Given the description of an element on the screen output the (x, y) to click on. 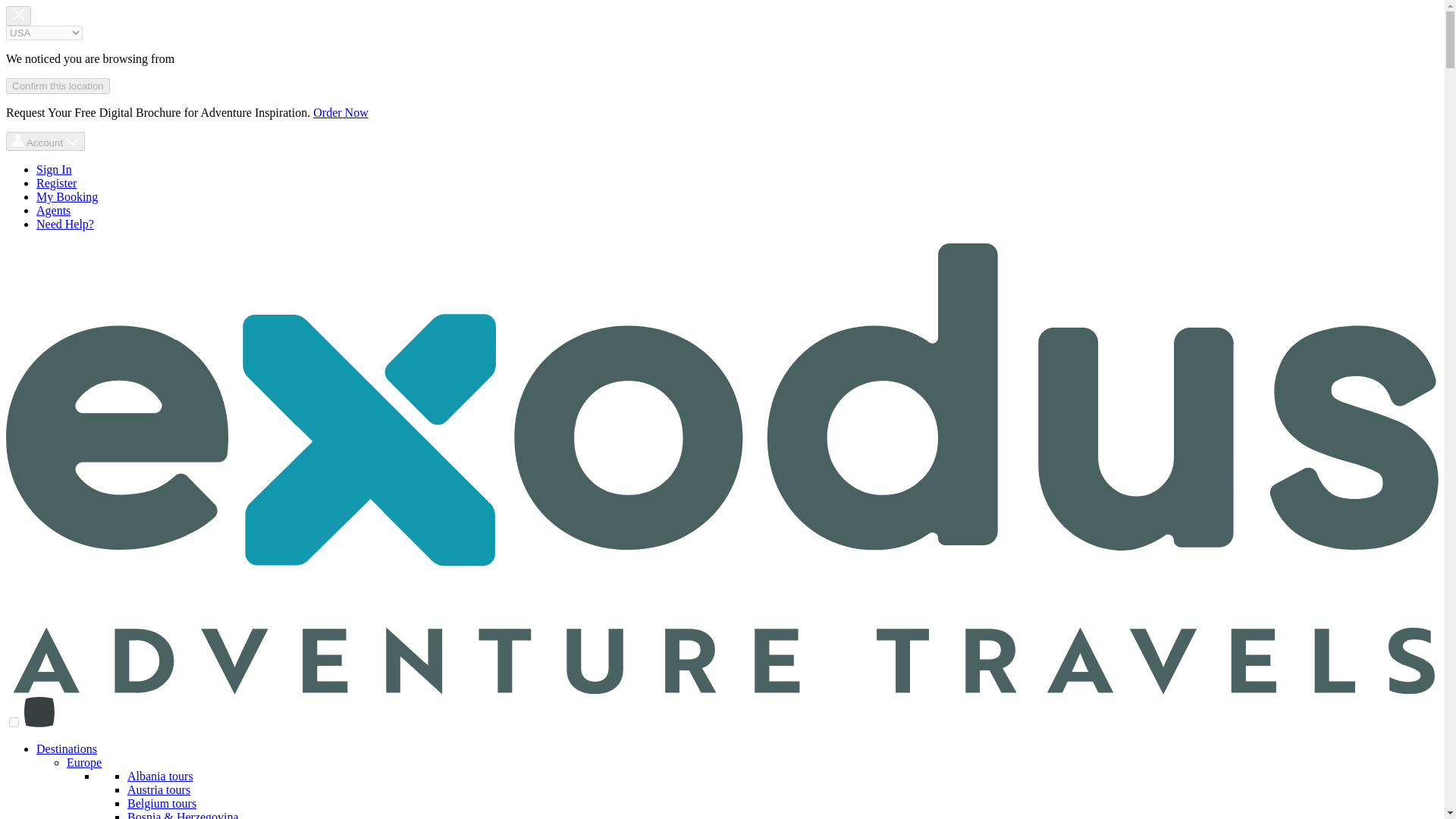
My Booking (66, 196)
Agents (52, 210)
Sign In (53, 169)
Destinations (66, 748)
on (13, 722)
Register (56, 182)
Need Help? (65, 223)
Register (56, 182)
Account (44, 140)
Need Help? (65, 223)
Albania tours (160, 775)
Europe (83, 762)
Austria tours (159, 789)
Agents (52, 210)
Belgium tours (162, 802)
